Given the description of an element on the screen output the (x, y) to click on. 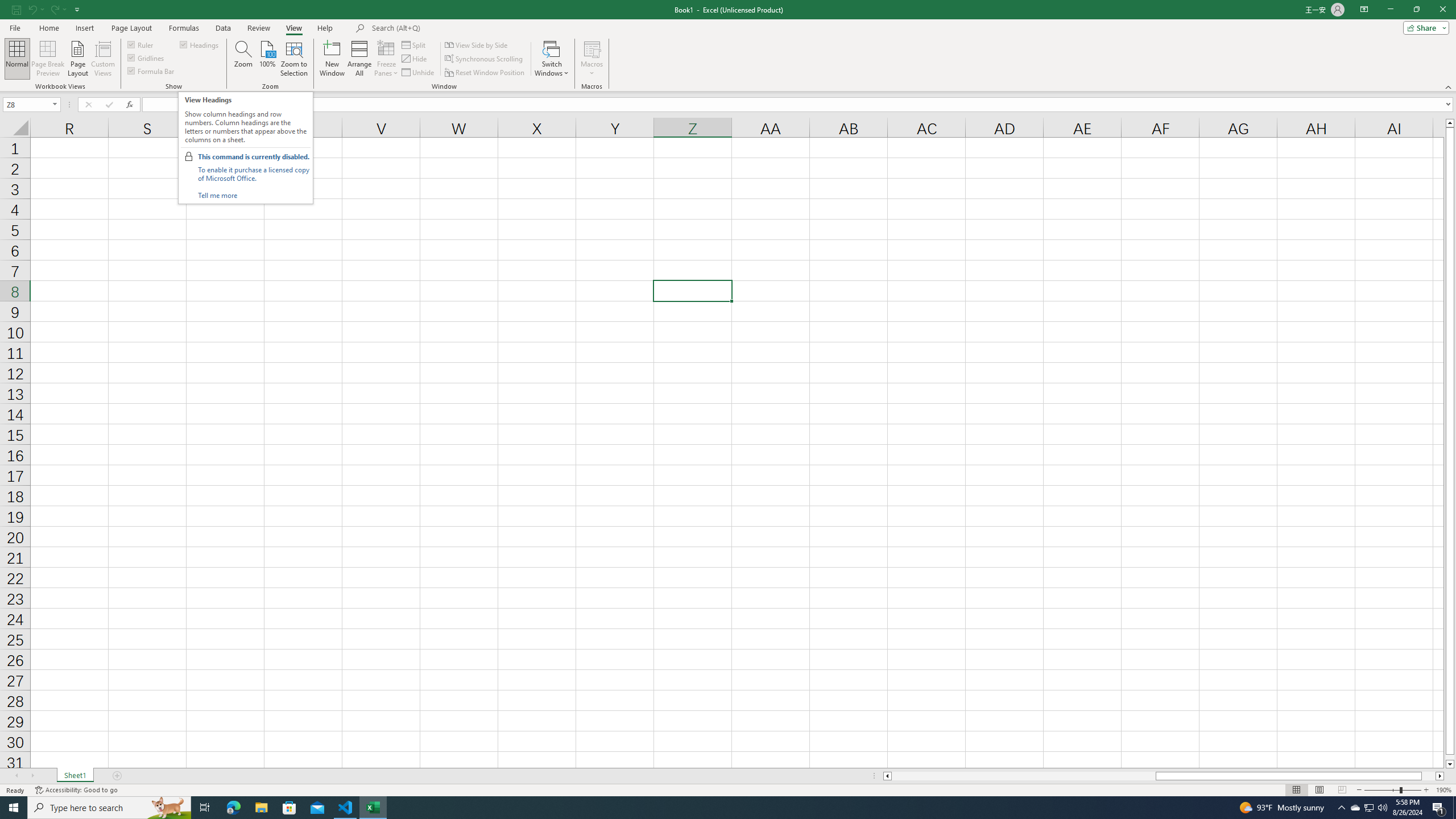
Class: NetUIImage (188, 156)
Split (414, 44)
